Given the description of an element on the screen output the (x, y) to click on. 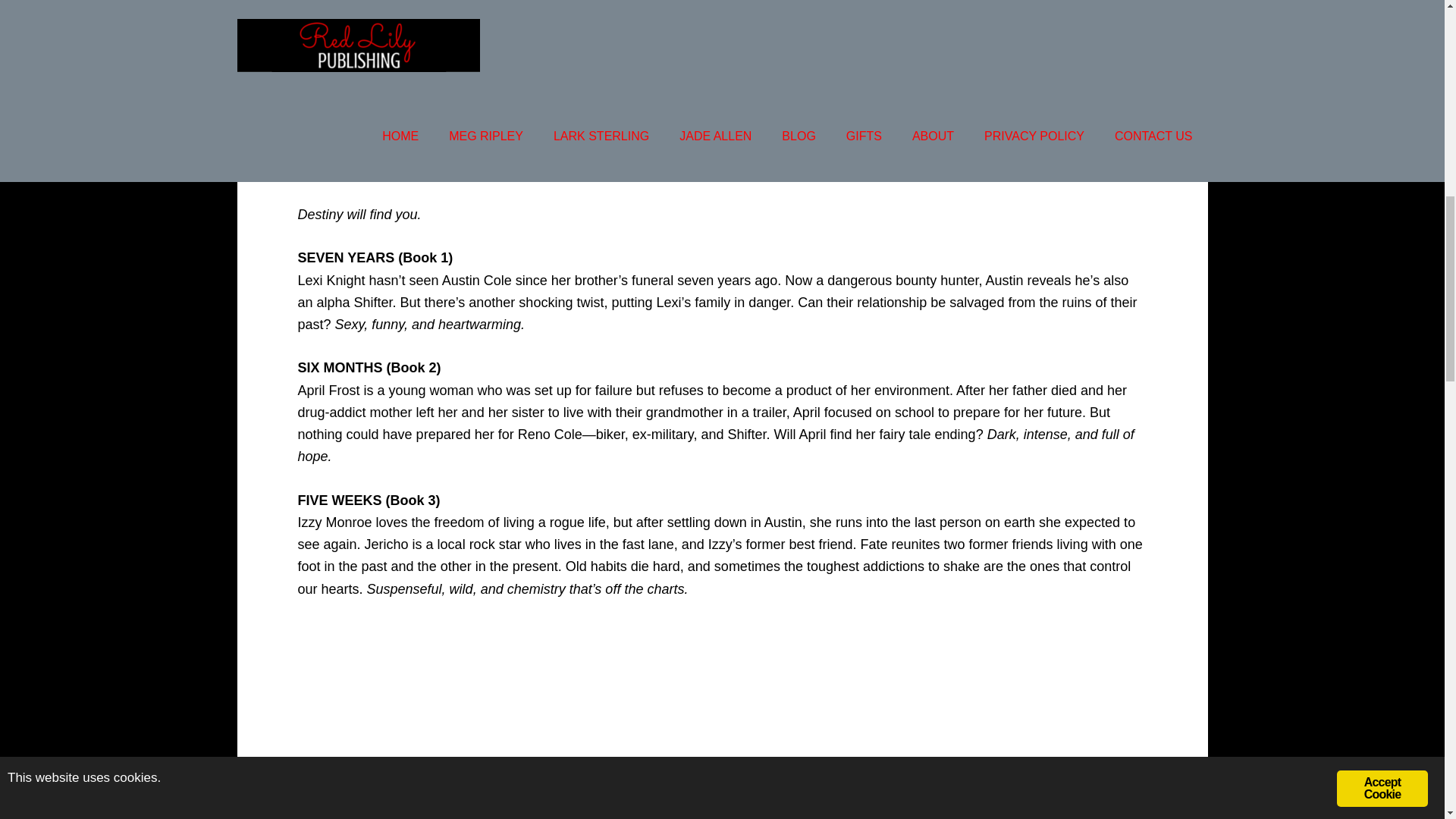
Steamy Paranormal Romance (447, 816)
